Given the description of an element on the screen output the (x, y) to click on. 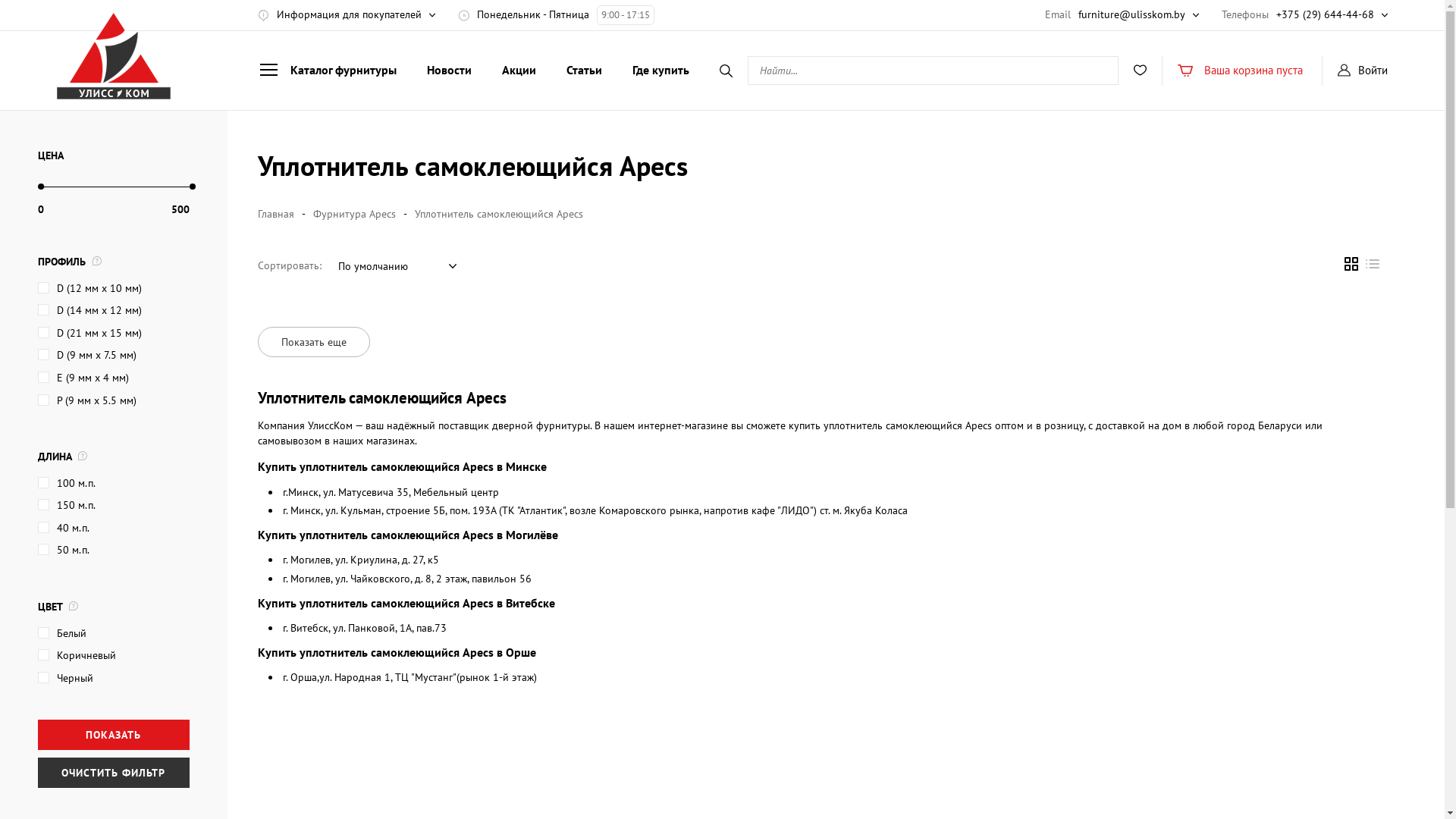
furniture@ulisskom.by Element type: text (1131, 14)
+375 (29) 644-44-68 Element type: text (1325, 14)
